Given the description of an element on the screen output the (x, y) to click on. 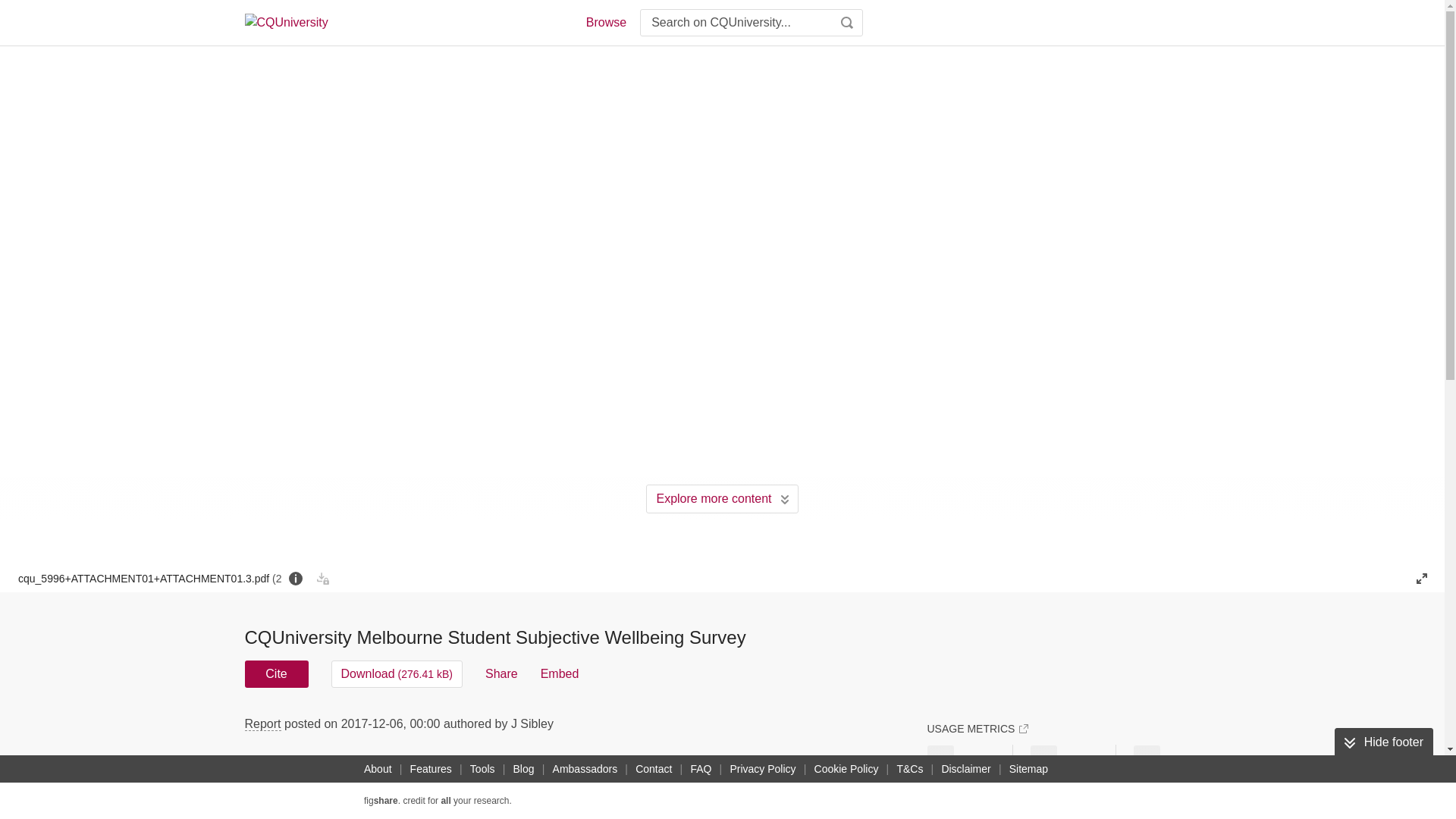
USAGE METRICS (976, 728)
FAQ (700, 769)
Tools (482, 769)
Contact (653, 769)
Features (431, 769)
Browse (605, 22)
Embed (559, 673)
Ambassadors (585, 769)
Hide footer (1383, 742)
About (377, 769)
Blog (523, 769)
Share (501, 673)
Explore more content (721, 498)
Privacy Policy (762, 769)
Cookie Policy (846, 769)
